Given the description of an element on the screen output the (x, y) to click on. 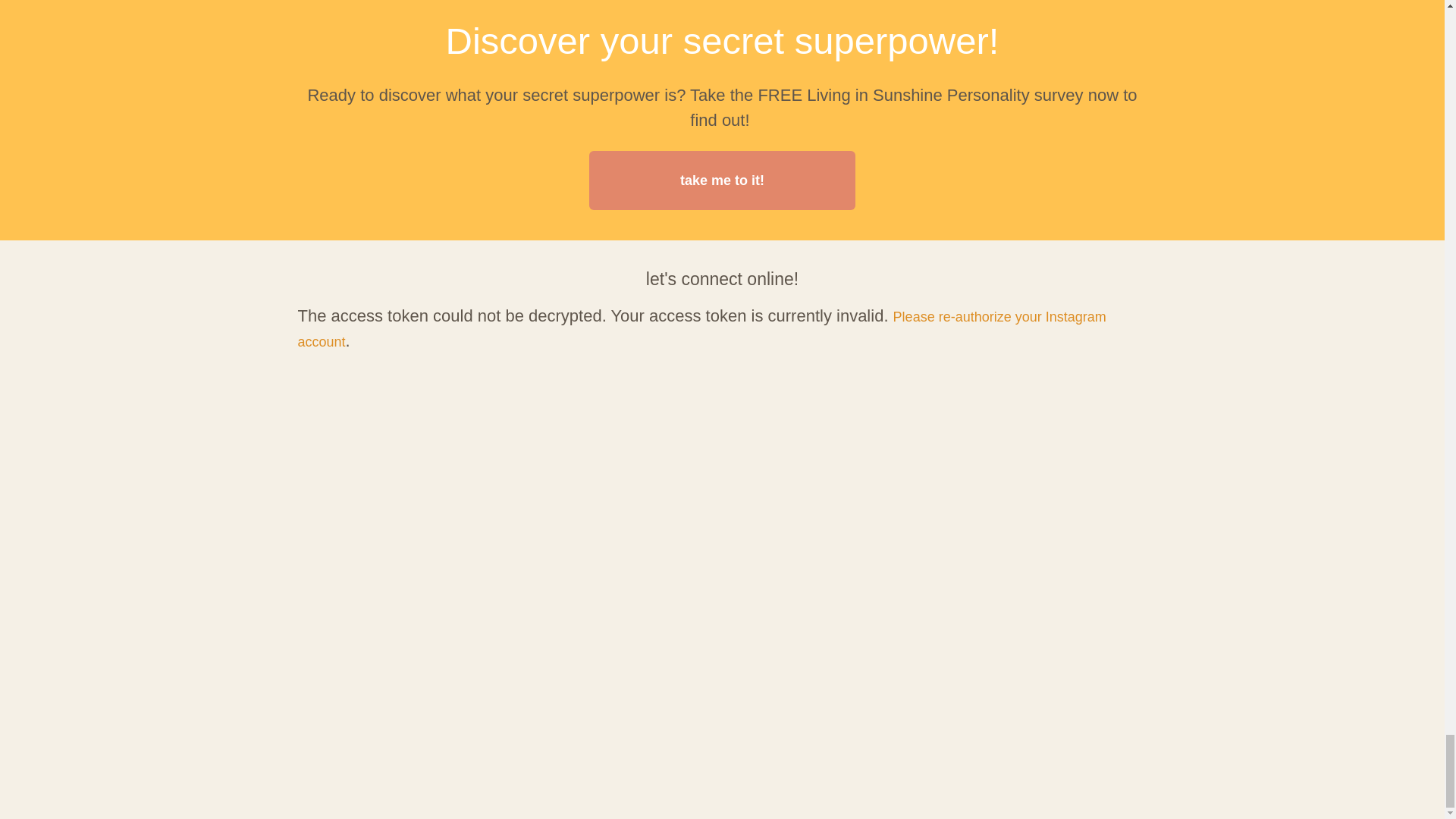
take me to it! (722, 179)
Please re-authorize your Instagram account (701, 329)
